Given the description of an element on the screen output the (x, y) to click on. 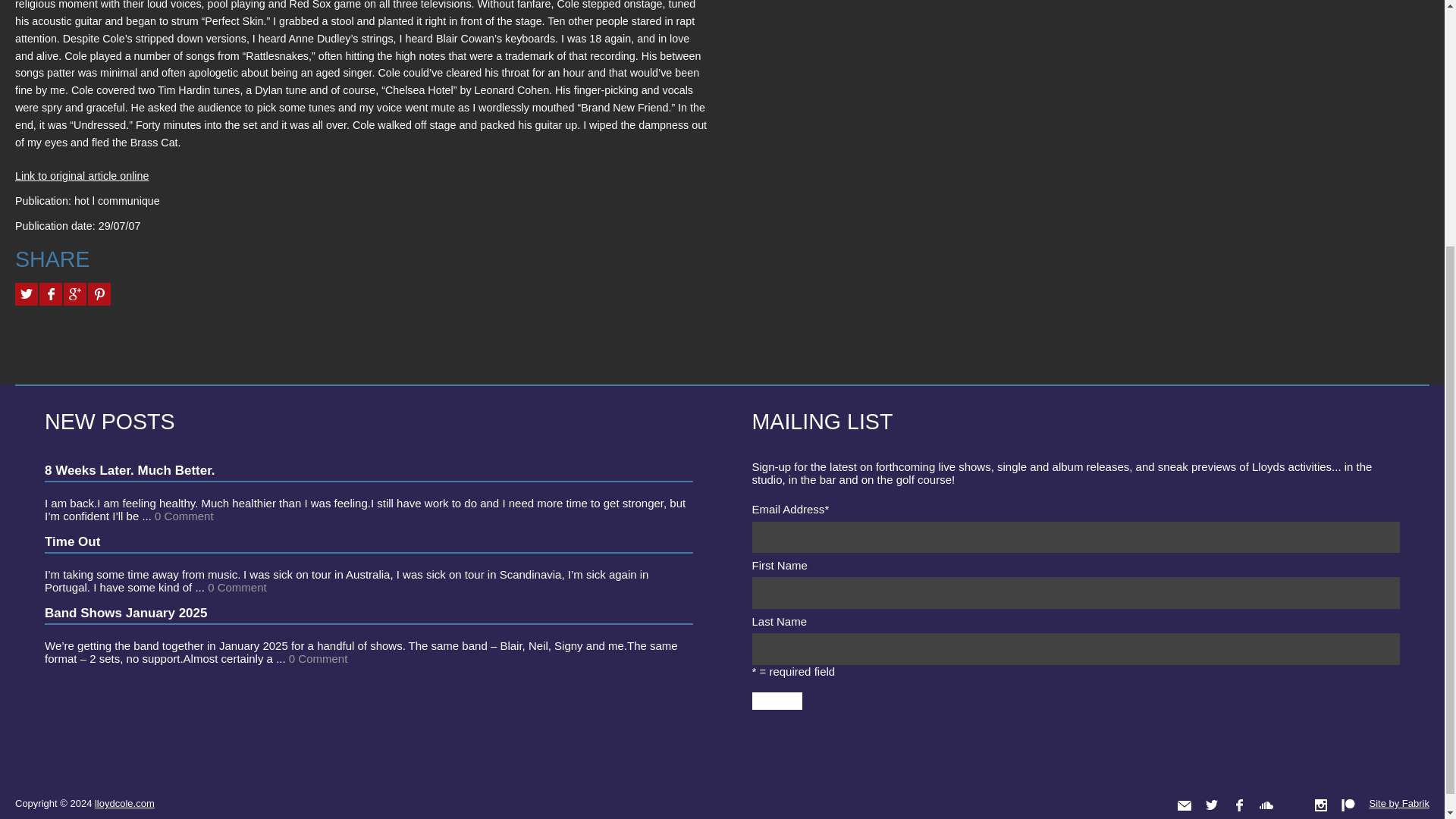
8 Weeks Later. Much Better. (130, 469)
lloydcole.com (124, 802)
Pin it (98, 293)
Link to original article online (81, 175)
Submit (777, 701)
Tweet This (25, 293)
0 Comment (237, 586)
Band Shows January 2025 (125, 611)
0 Comment (317, 657)
0 Comment (184, 514)
Share on Facebook (50, 293)
Time Out (72, 540)
Submit (777, 701)
